Given the description of an element on the screen output the (x, y) to click on. 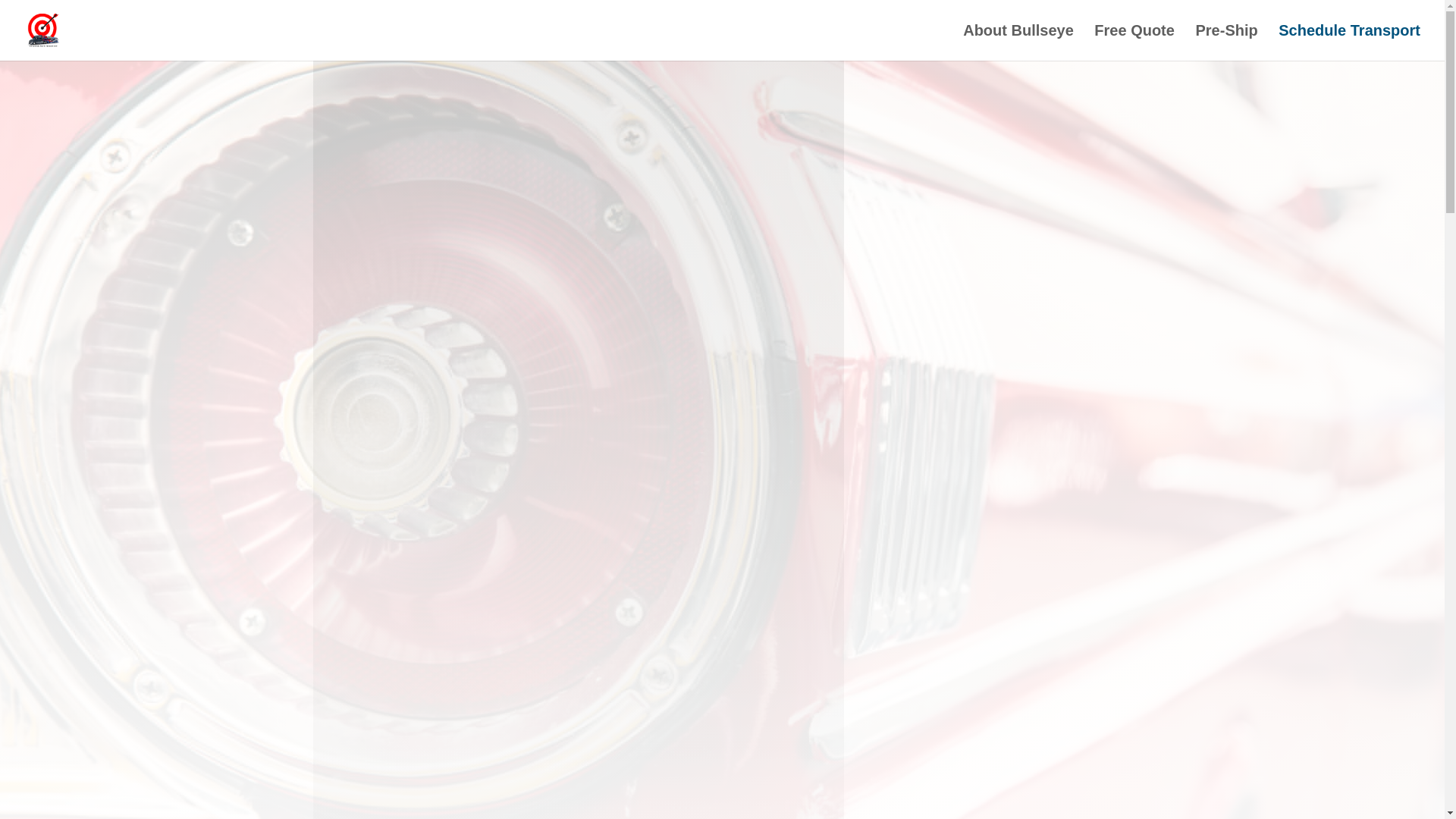
Pre-Ship (1226, 42)
About Bullseye (1018, 42)
Schedule Transport (1349, 42)
Free Quote (1134, 42)
